Given the description of an element on the screen output the (x, y) to click on. 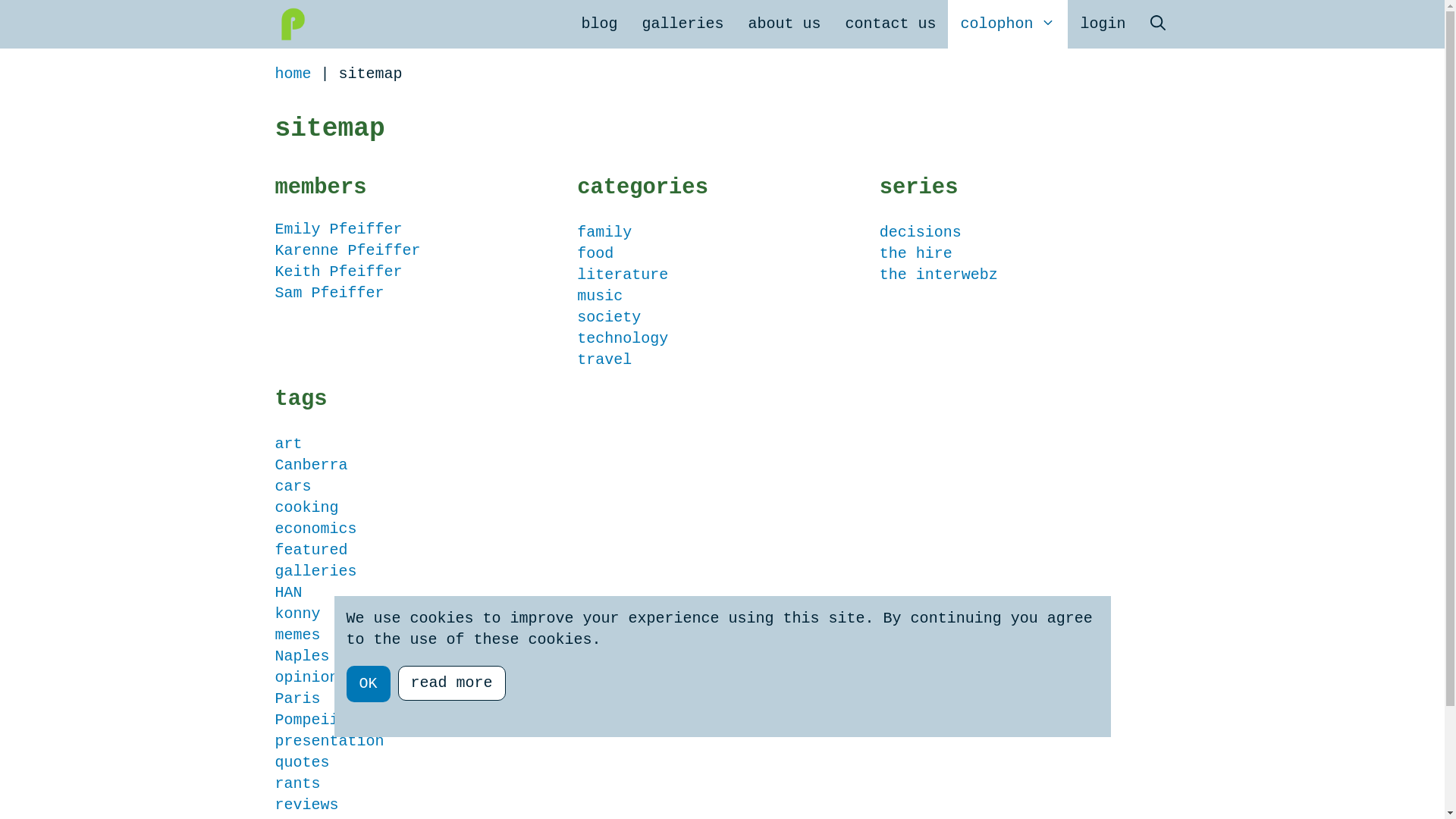
Paris Element type: text (297, 698)
read more Element type: text (451, 682)
music Element type: text (599, 295)
Pompeii Element type: text (306, 719)
reviews Element type: text (306, 804)
art Element type: text (287, 443)
society Element type: text (608, 317)
food Element type: text (595, 253)
Keith Pfeiffer Element type: text (337, 271)
decisions Element type: text (920, 232)
HAN Element type: text (287, 592)
featured Element type: text (310, 549)
Karenne Pfeiffer Element type: text (347, 250)
the interwebz Element type: text (938, 274)
rants Element type: text (297, 783)
Naples Element type: text (301, 656)
Canberra Element type: text (310, 464)
quotes Element type: text (301, 762)
OK Element type: text (367, 683)
family Element type: text (604, 232)
contact us Element type: text (889, 24)
home Element type: text (292, 73)
blog Element type: text (598, 24)
colophon Element type: text (1007, 24)
literature Element type: text (622, 274)
galleries Element type: text (682, 24)
konny Element type: text (297, 613)
login Element type: text (1102, 24)
travel Element type: text (604, 359)
Sam Pfeiffer Element type: text (328, 292)
cooking Element type: text (306, 507)
galleries Element type: text (315, 571)
technology Element type: text (622, 338)
economics Element type: text (315, 528)
about us Element type: text (783, 24)
cars Element type: text (292, 486)
pfeiffer family: the website Element type: hover (290, 24)
presentation Element type: text (328, 740)
opinion Element type: text (306, 677)
memes Element type: text (297, 634)
the hire Element type: text (915, 253)
Emily Pfeiffer Element type: text (337, 229)
